Given the description of an element on the screen output the (x, y) to click on. 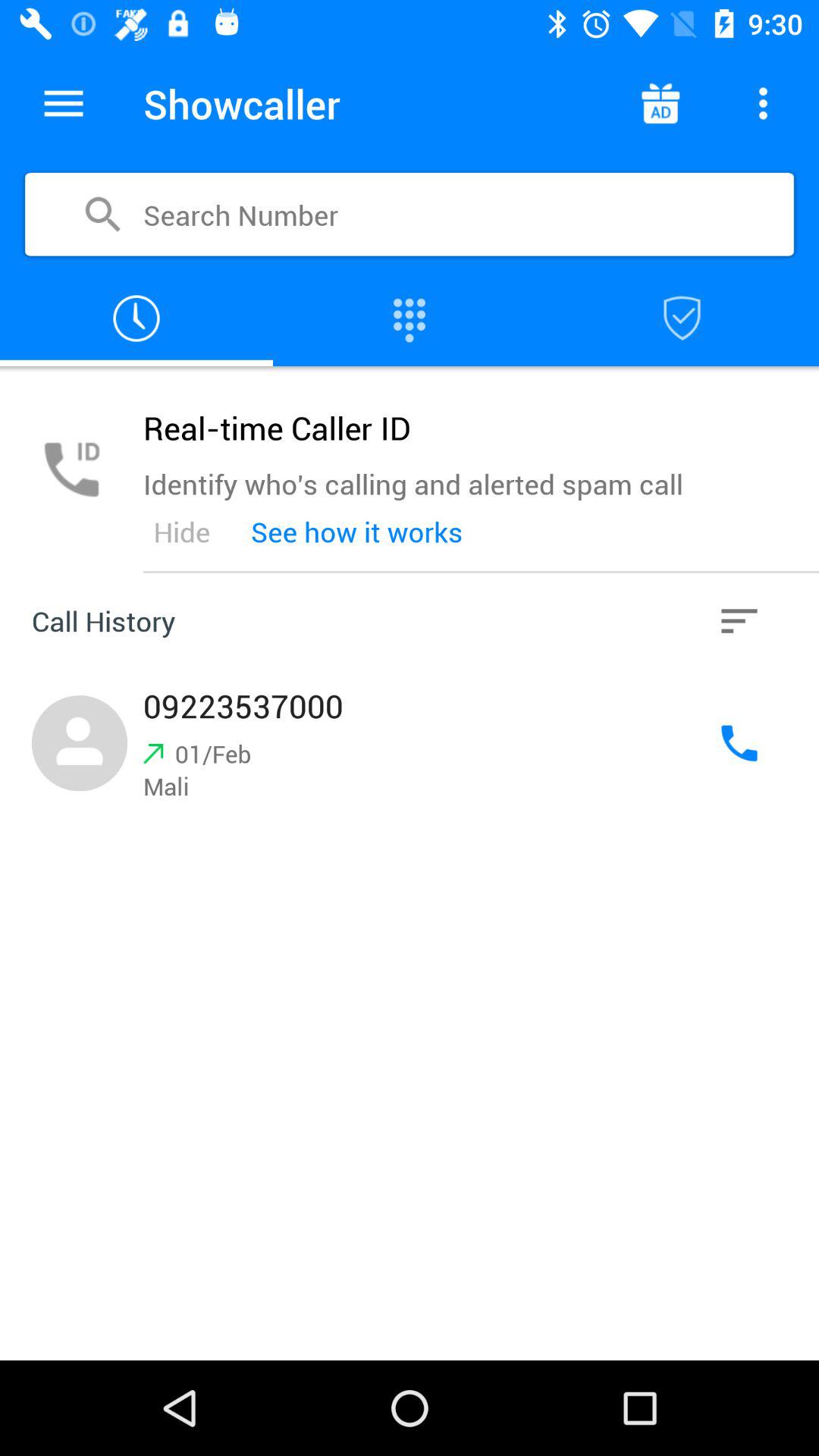
swipe until the see how it item (356, 531)
